Given the description of an element on the screen output the (x, y) to click on. 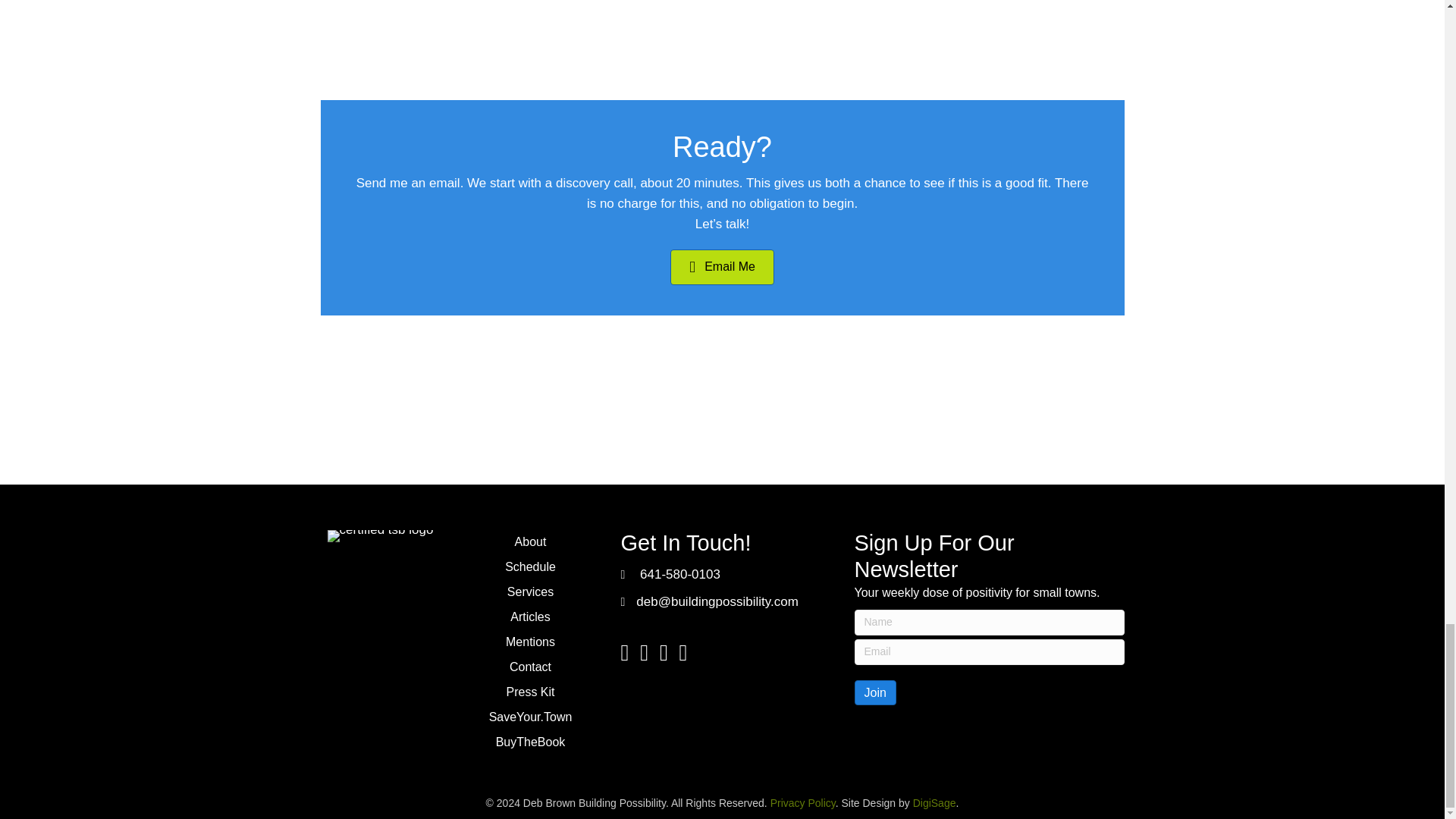
certified-tsb-iowa-logo (380, 535)
Join (874, 692)
